Given the description of an element on the screen output the (x, y) to click on. 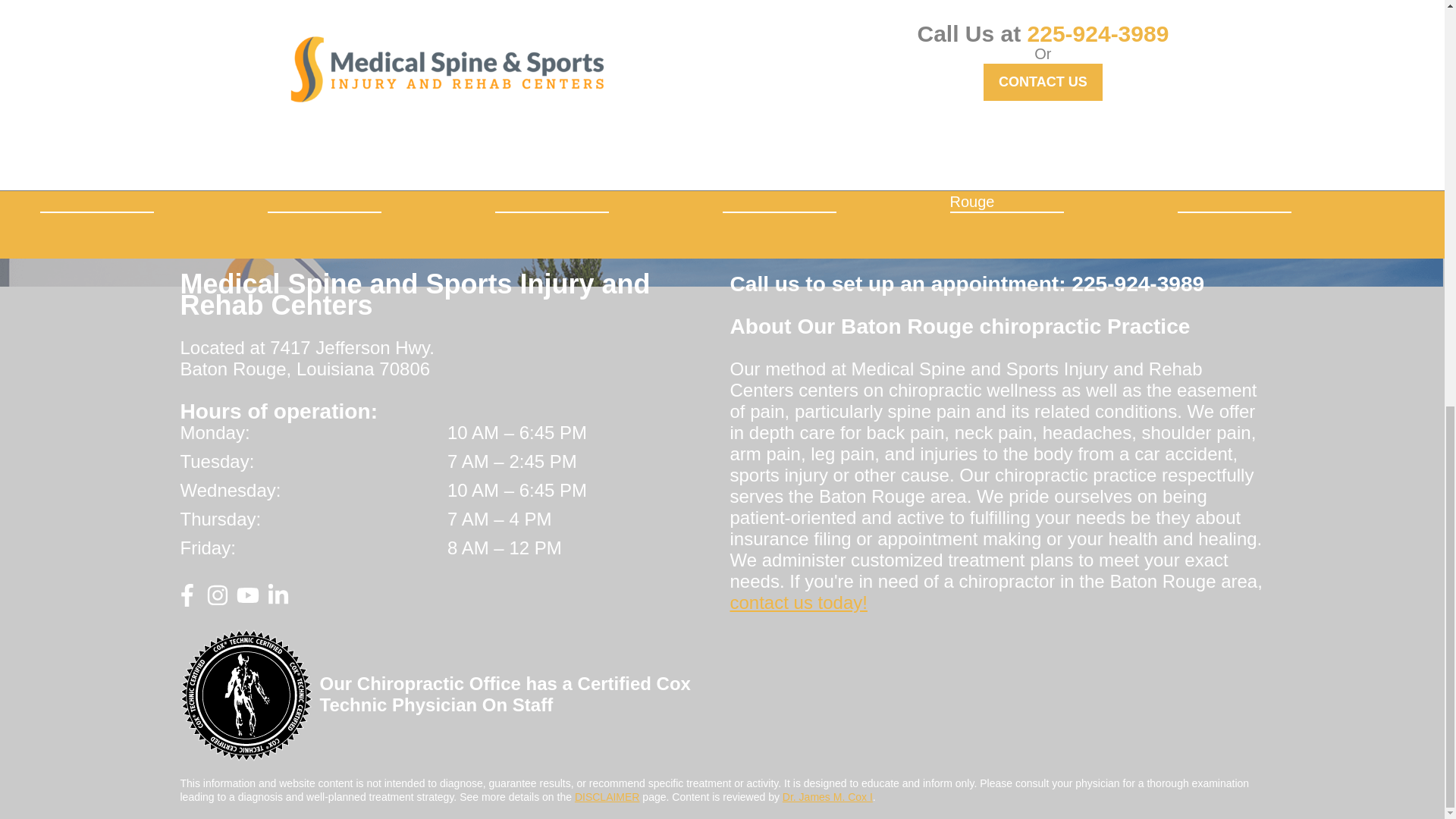
Subscribe to us on YouTube (247, 600)
Follow us on Instagram (217, 600)
Connect with us on LinkedIn (277, 600)
Like us on Facebook (187, 600)
